Given the description of an element on the screen output the (x, y) to click on. 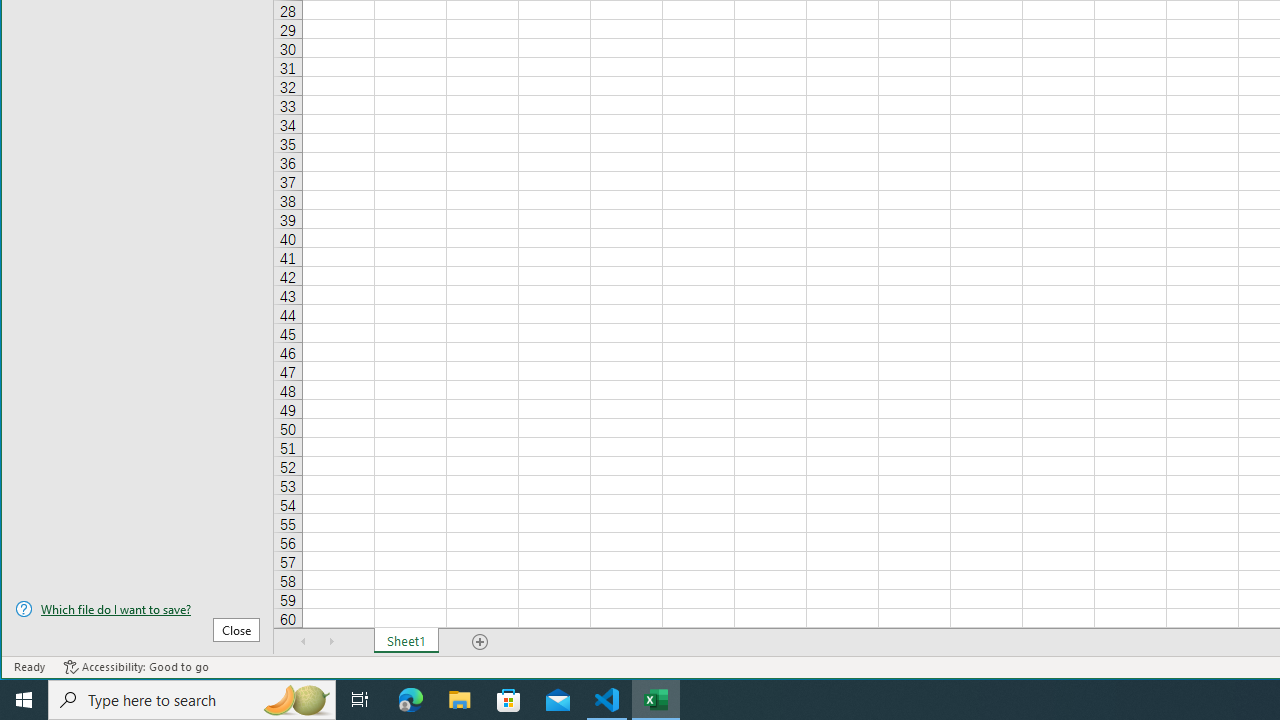
File Explorer (460, 699)
Visual Studio Code - 1 running window (607, 699)
Task View (359, 699)
Excel - 1 running window (656, 699)
Add Sheet (481, 641)
Sheet1 (406, 641)
Search highlights icon opens search home window (295, 699)
Accessibility Checker Accessibility: Good to go (136, 667)
Microsoft Store (509, 699)
Microsoft Edge (411, 699)
Start (24, 699)
Which file do I want to save? (137, 609)
Scroll Right (331, 641)
